Given the description of an element on the screen output the (x, y) to click on. 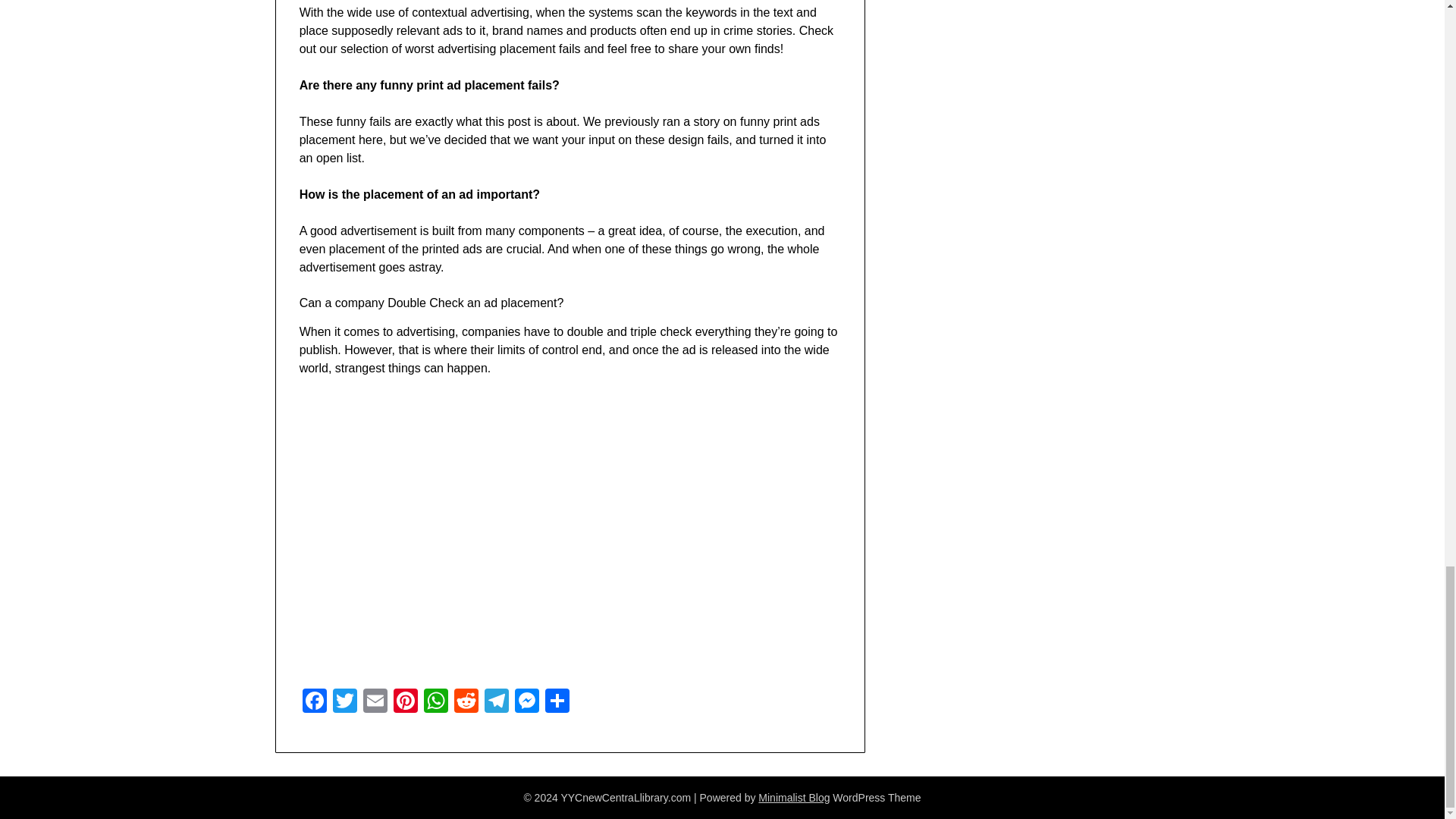
Reddit (466, 702)
Telegram (496, 702)
Top 10 Marketing Fails: Coke, Ford, Netflix (541, 526)
Facebook (314, 702)
Email (374, 702)
Facebook (314, 702)
WhatsApp (435, 702)
Telegram (496, 702)
Twitter (344, 702)
Pinterest (405, 702)
Pinterest (405, 702)
Share (556, 702)
Reddit (466, 702)
WhatsApp (435, 702)
Minimalist Blog (793, 797)
